Given the description of an element on the screen output the (x, y) to click on. 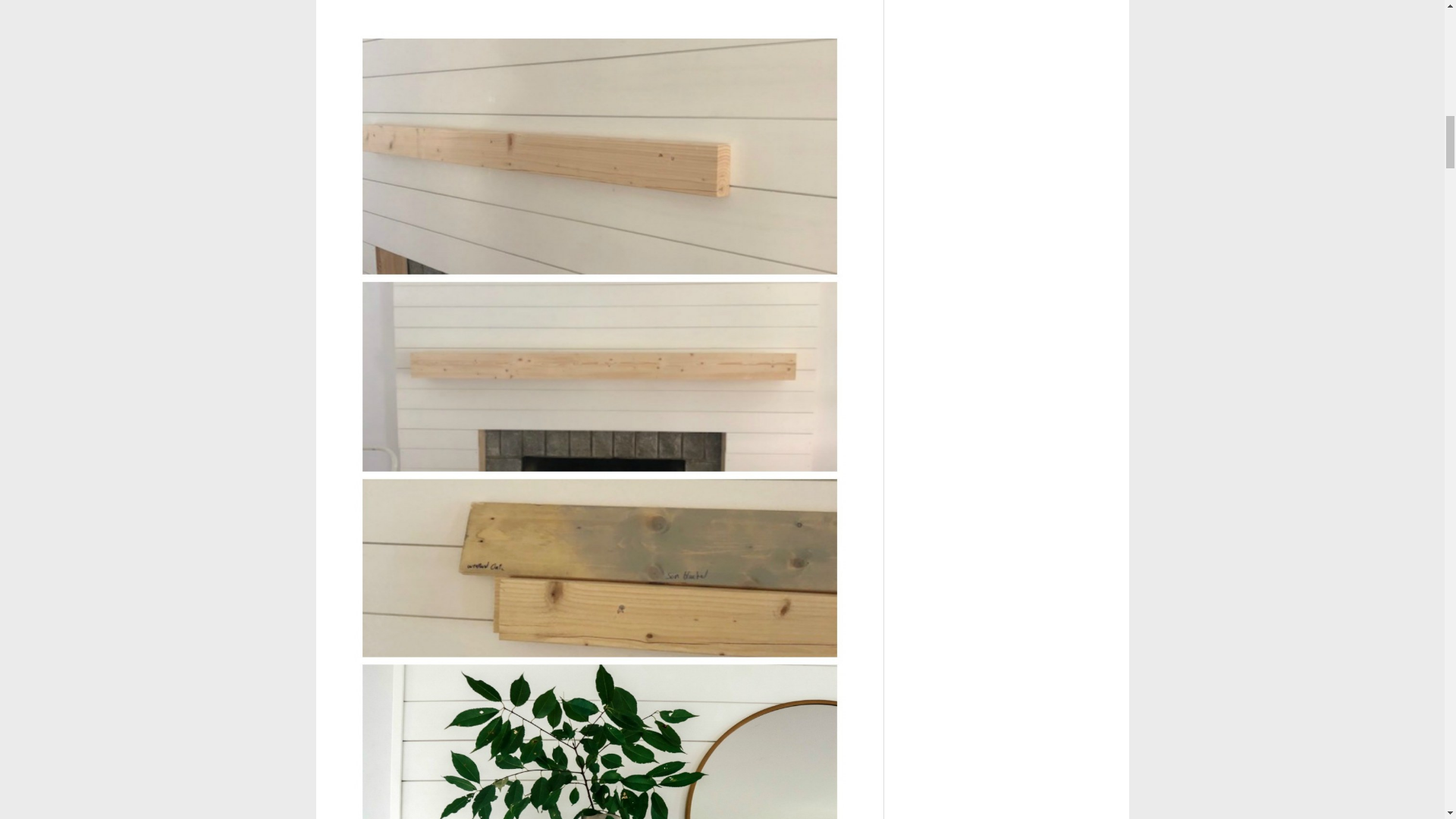
Advertisement (599, 10)
